Given the description of an element on the screen output the (x, y) to click on. 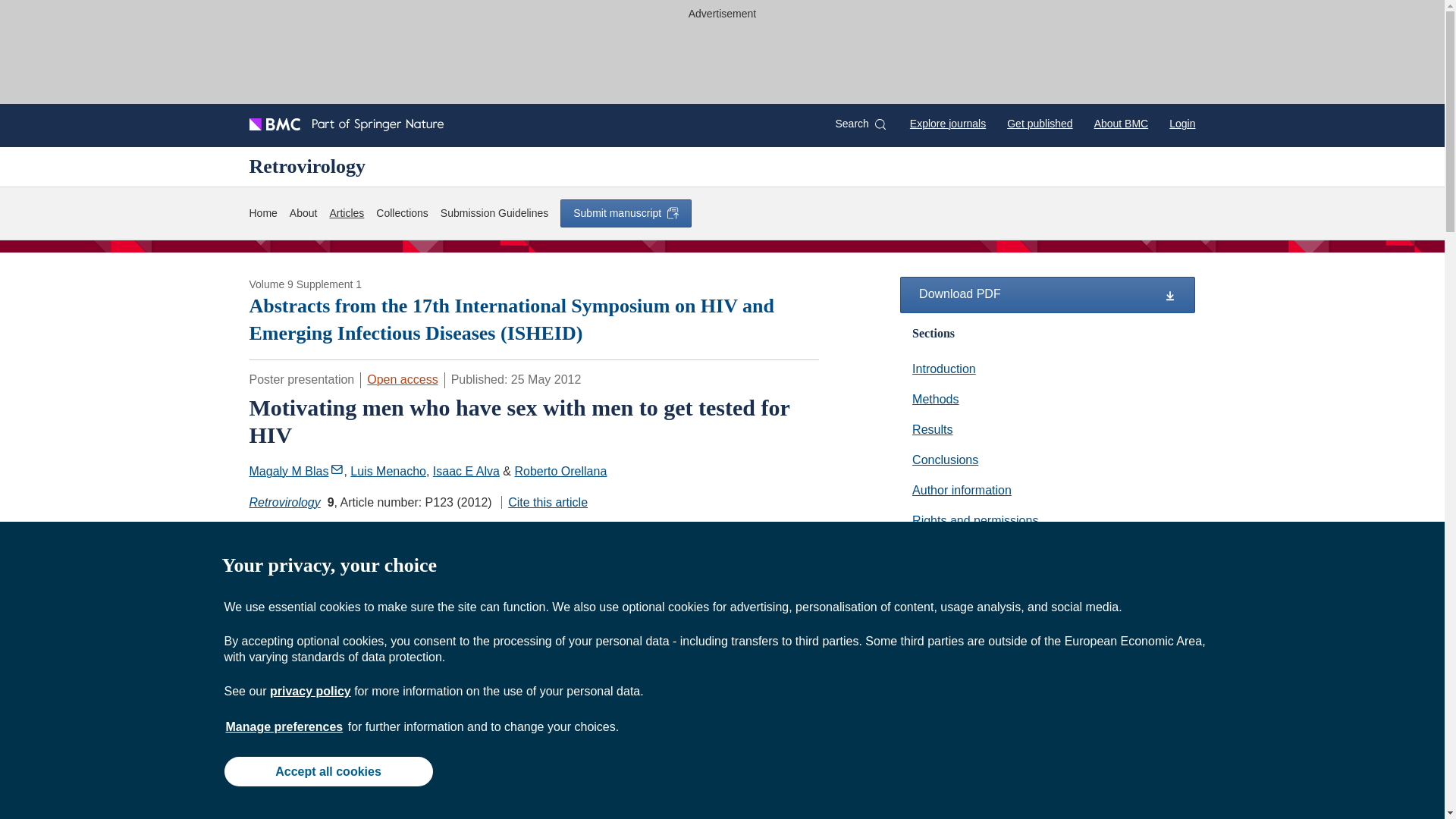
Articles (346, 212)
Roberto Orellana (560, 471)
Submit manuscript (625, 212)
Luis Menacho (388, 471)
Open access (402, 379)
Accept all cookies (328, 771)
Metrics (444, 530)
Collections (401, 212)
Manage preferences (284, 726)
privacy policy (309, 690)
Magaly M Blas (295, 471)
Isaac E Alva (465, 471)
Home (262, 212)
Get published (1039, 123)
About (303, 212)
